Given the description of an element on the screen output the (x, y) to click on. 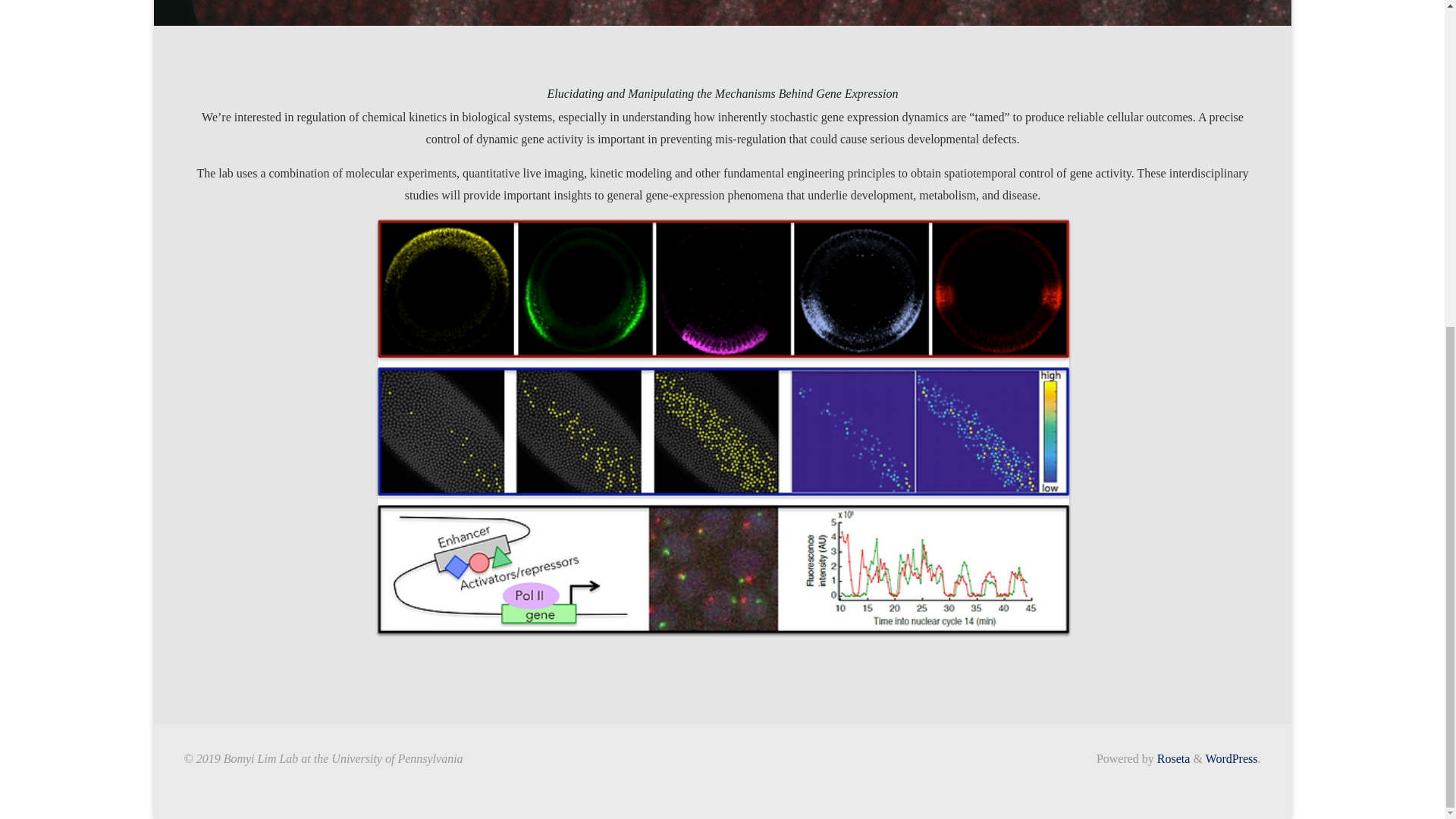
Semantic Personal Publishing Platform (1231, 758)
Roseta (1172, 758)
WordPress (1231, 758)
Roseta WordPress Theme by Cryout Creations (1172, 758)
